Given the description of an element on the screen output the (x, y) to click on. 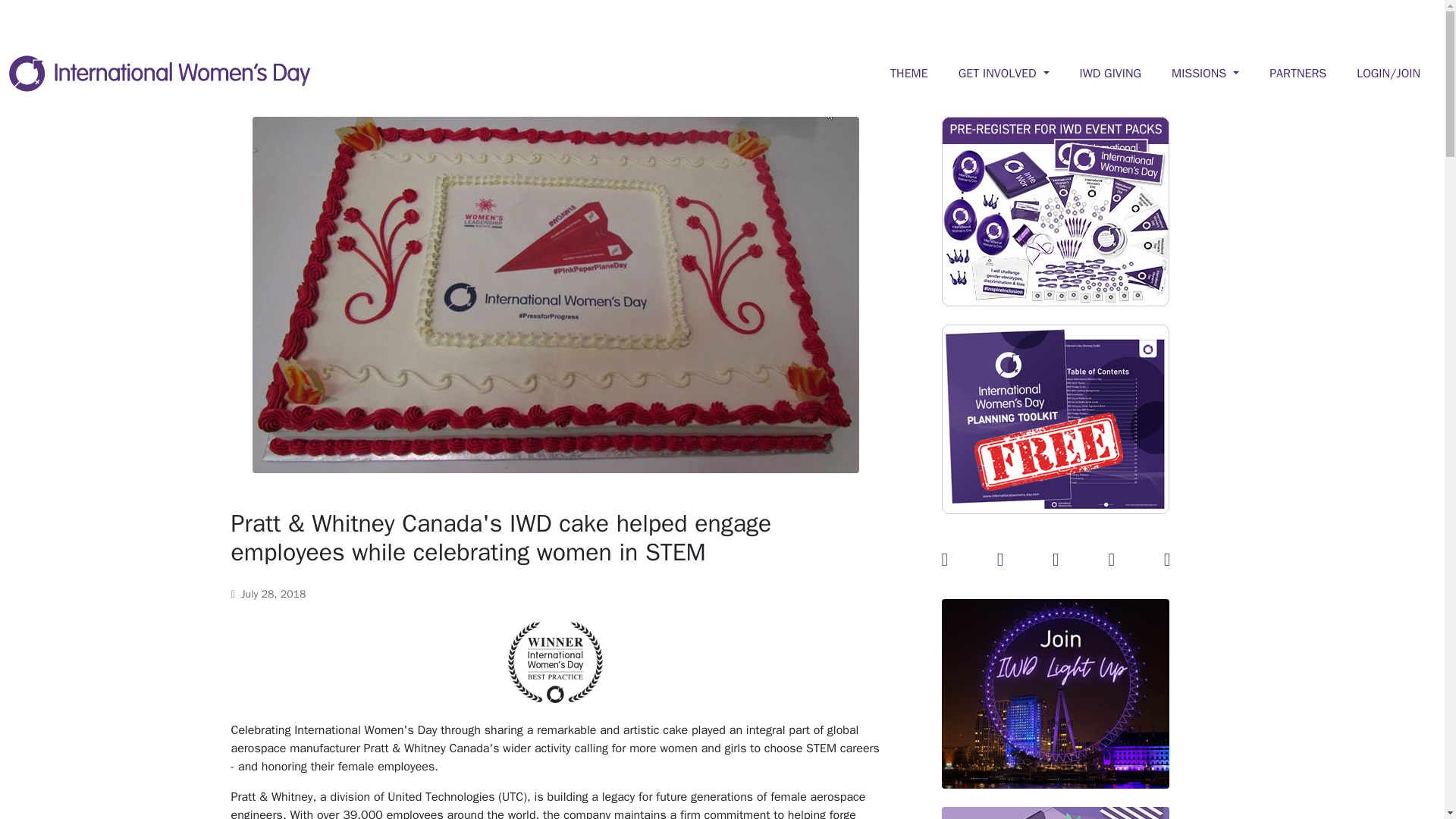
IWD Event Packs pre orders (1055, 211)
GET INVOLVED (1003, 73)
IWD GIVING (1111, 73)
IWD Light Up (1055, 693)
MISSIONS (1205, 73)
PARTNERS (1297, 73)
Where Women Work (1055, 812)
THEME (908, 73)
IWD Toolkit (1055, 419)
